Given the description of an element on the screen output the (x, y) to click on. 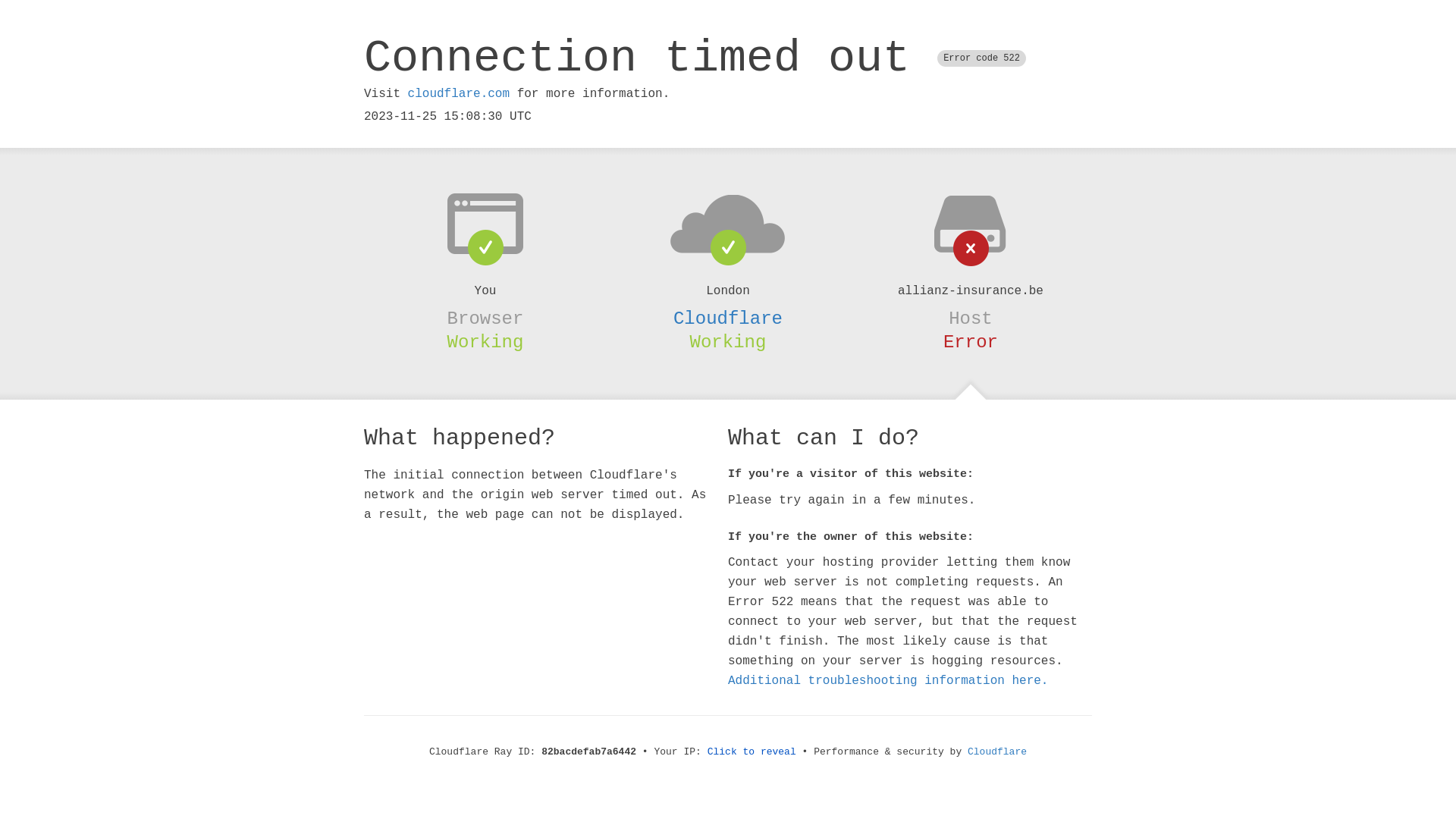
Additional troubleshooting information here. Element type: text (888, 680)
Click to reveal Element type: text (751, 751)
Cloudflare Element type: text (727, 318)
Cloudflare Element type: text (996, 751)
cloudflare.com Element type: text (458, 93)
